Given the description of an element on the screen output the (x, y) to click on. 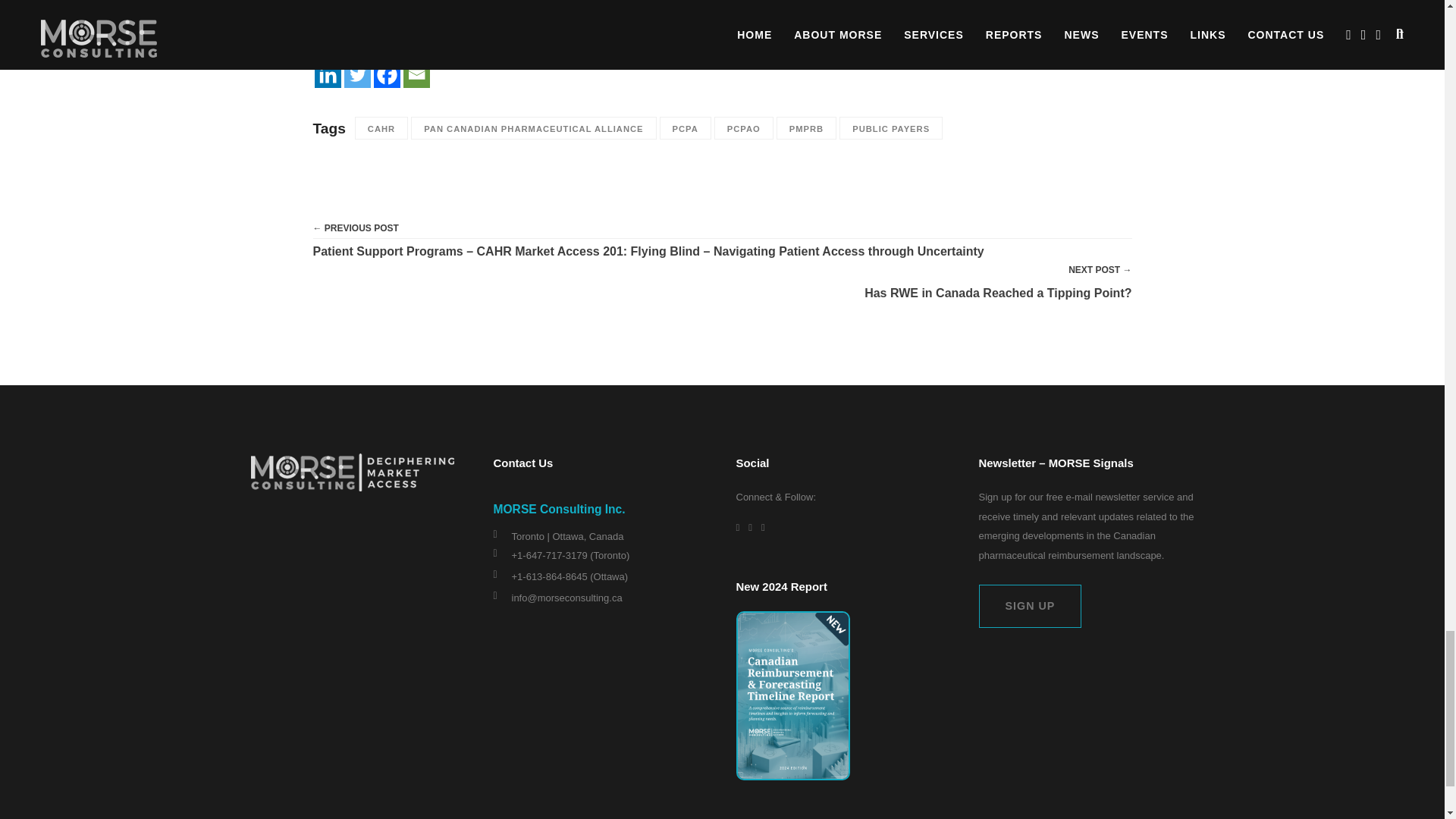
Facebook (385, 74)
Twitter (357, 74)
Linkedin (327, 74)
Email (416, 74)
